Given the description of an element on the screen output the (x, y) to click on. 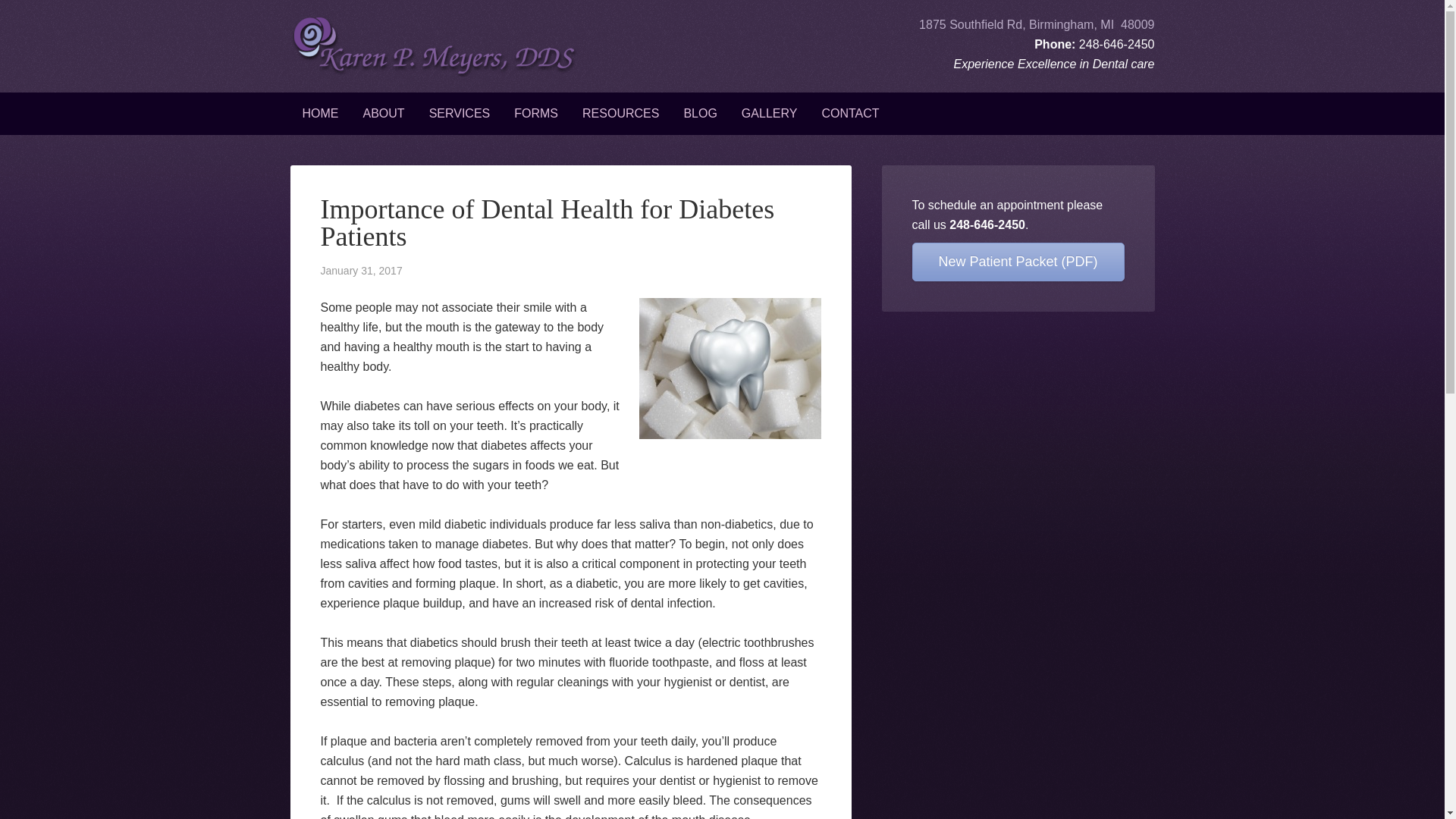
Karen P. Meyers, DDS (440, 45)
GALLERY (769, 113)
FORMS (536, 113)
SERVICES (459, 113)
RESOURCES (620, 113)
HOME (319, 113)
Importance of Dental Health for Diabetes Patients (547, 222)
BLOG (700, 113)
1875 Southfield Rd, Birmingham, MI  48009 (1036, 24)
ABOUT (383, 113)
CONTACT (850, 113)
